Given the description of an element on the screen output the (x, y) to click on. 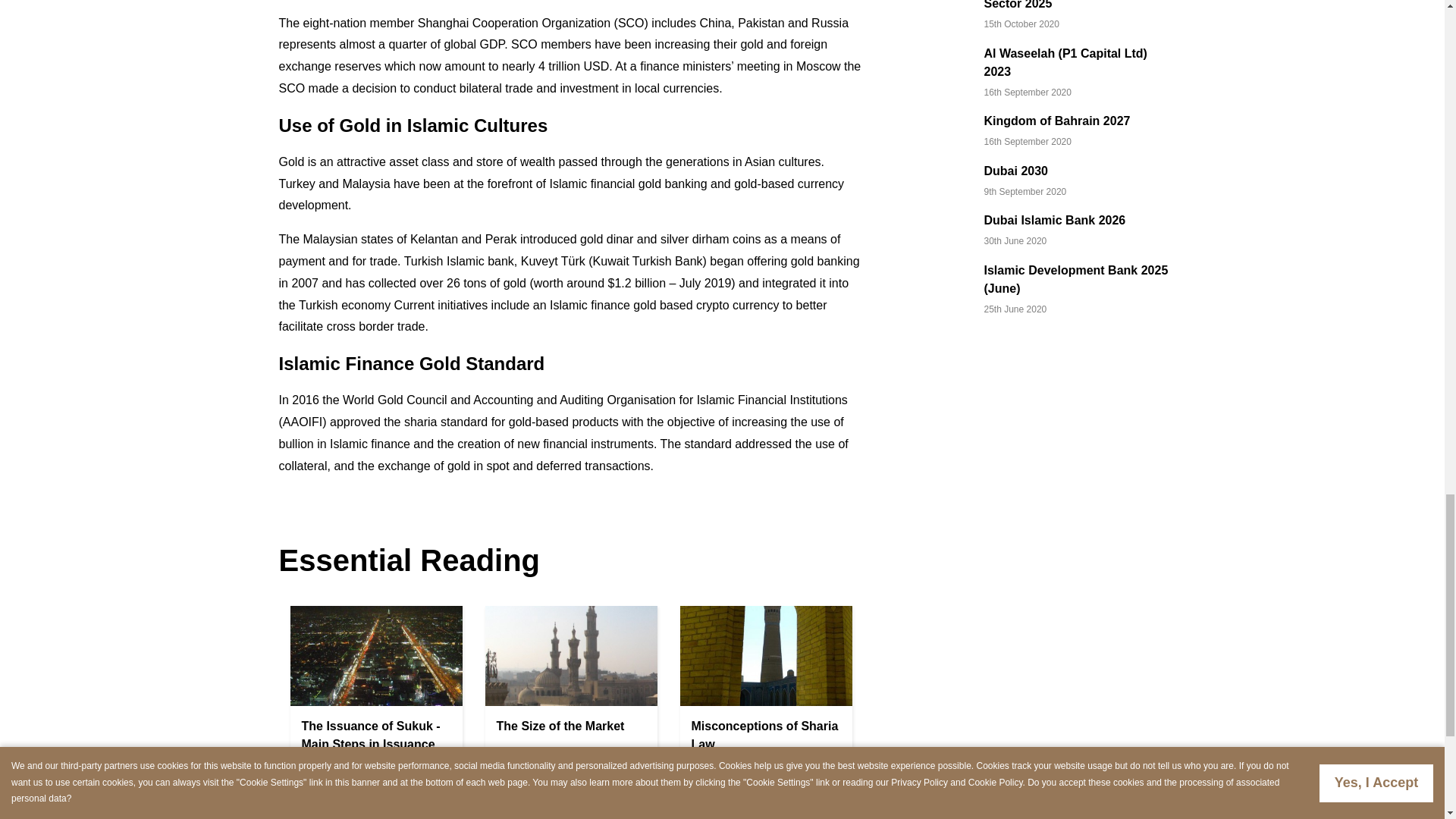
The Issuance of Sukuk - Main Steps in Issuance Lif... (371, 744)
Misconceptions of Sharia (766, 655)
The Size of the Market (570, 655)
Essential Reading (409, 560)
